Given the description of an element on the screen output the (x, y) to click on. 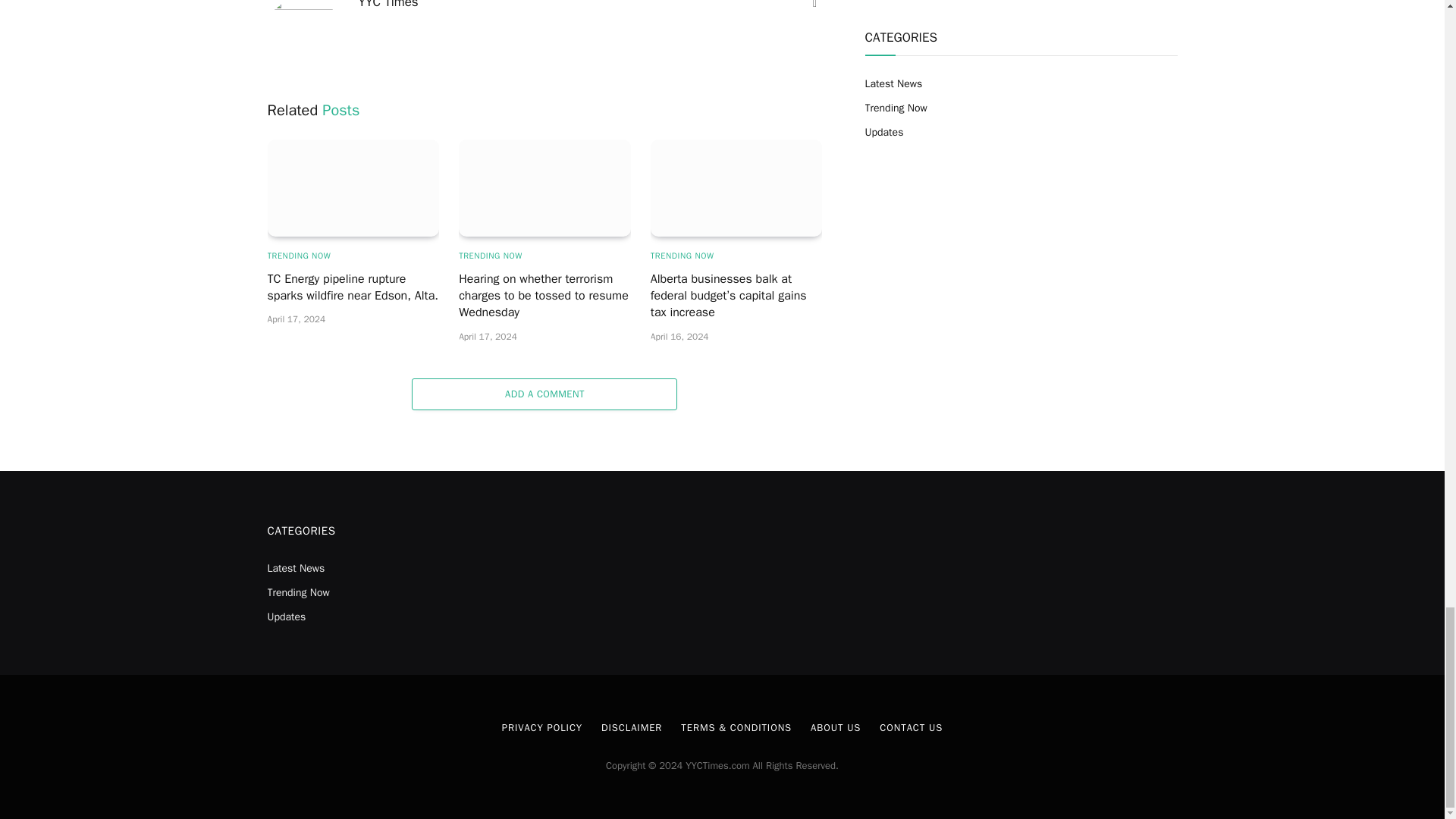
TRENDING NOW (490, 255)
TC Energy pipeline rupture sparks wildfire near Edson, Alta. (352, 287)
TC Energy pipeline rupture sparks wildfire near Edson, Alta. (352, 187)
YYC Times (387, 4)
Posts by YYC Times (387, 4)
TRENDING NOW (298, 255)
TRENDING NOW (682, 255)
Website (814, 5)
Website (814, 5)
